Given the description of an element on the screen output the (x, y) to click on. 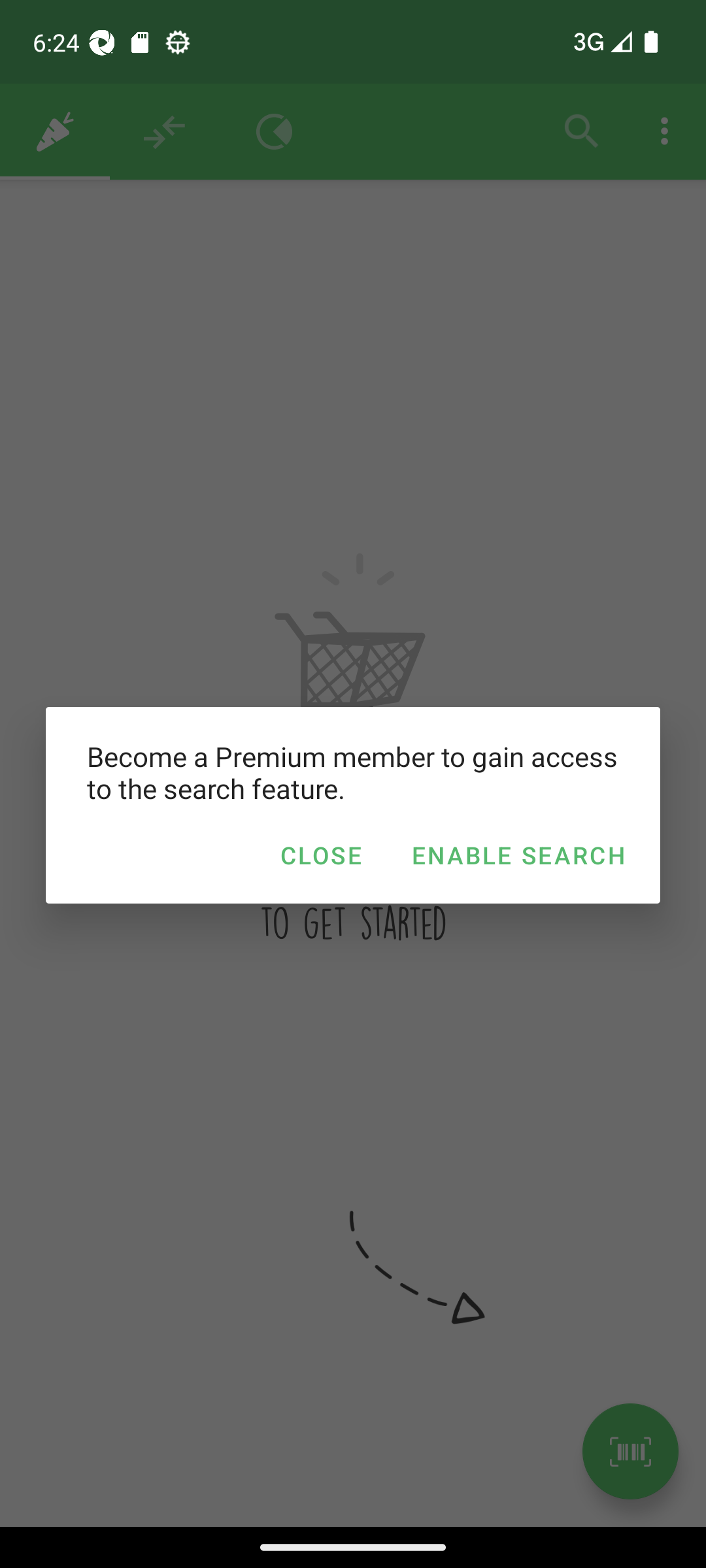
CLOSE (320, 854)
ENABLE SEARCH (517, 854)
